Given the description of an element on the screen output the (x, y) to click on. 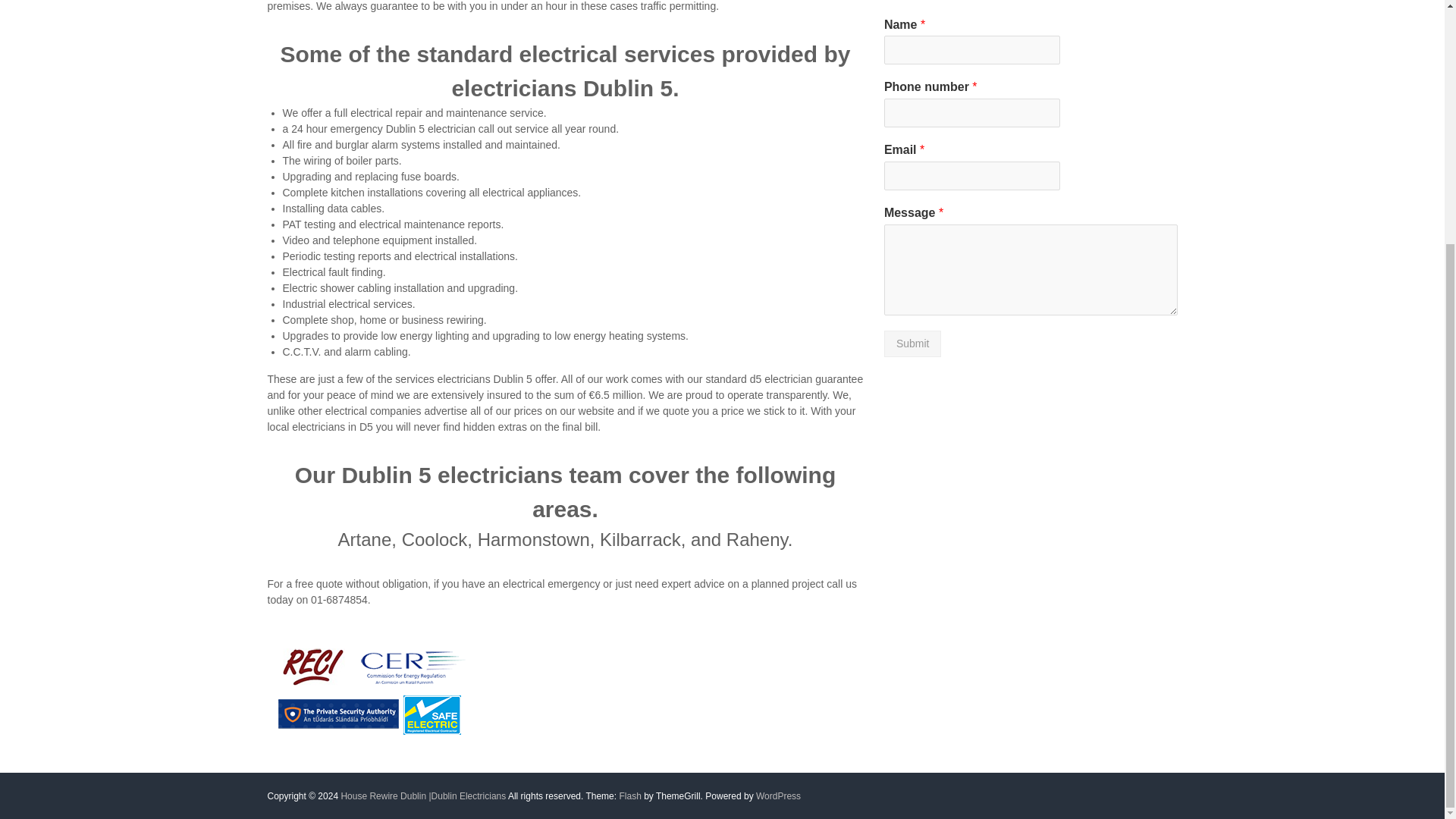
WordPress (777, 795)
Submit (912, 343)
Flash (629, 795)
